Given the description of an element on the screen output the (x, y) to click on. 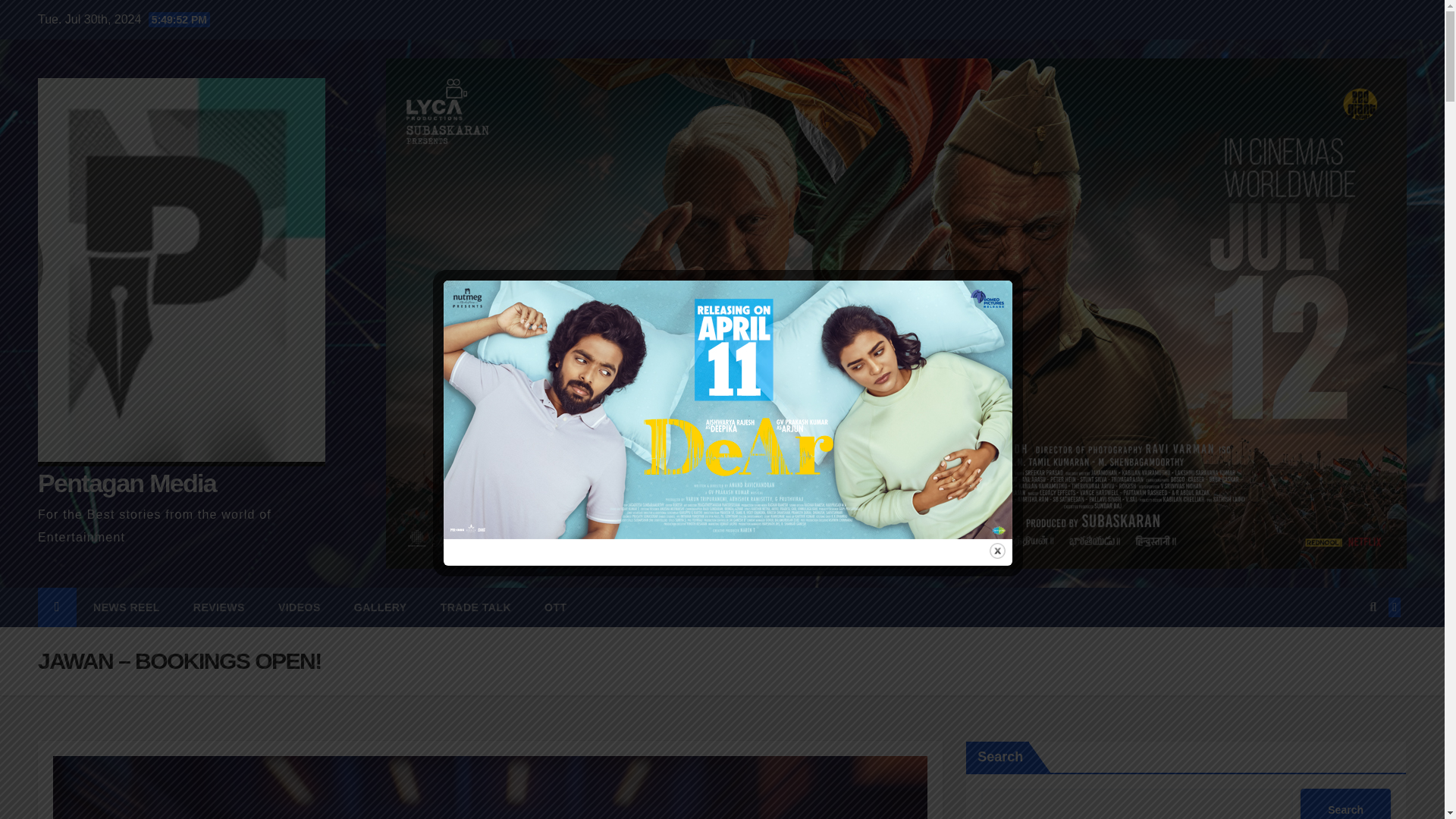
News Reel (126, 607)
Trade Talk (475, 607)
Search (1345, 803)
Videos (299, 607)
REVIEWS (219, 607)
OTT (555, 607)
TRADE TALK (475, 607)
Pentagan Media (126, 482)
OTT (555, 607)
Reviews (219, 607)
NEWS REEL (126, 607)
Gallery (380, 607)
GALLERY (380, 607)
Close (998, 550)
VIDEOS (299, 607)
